Given the description of an element on the screen output the (x, y) to click on. 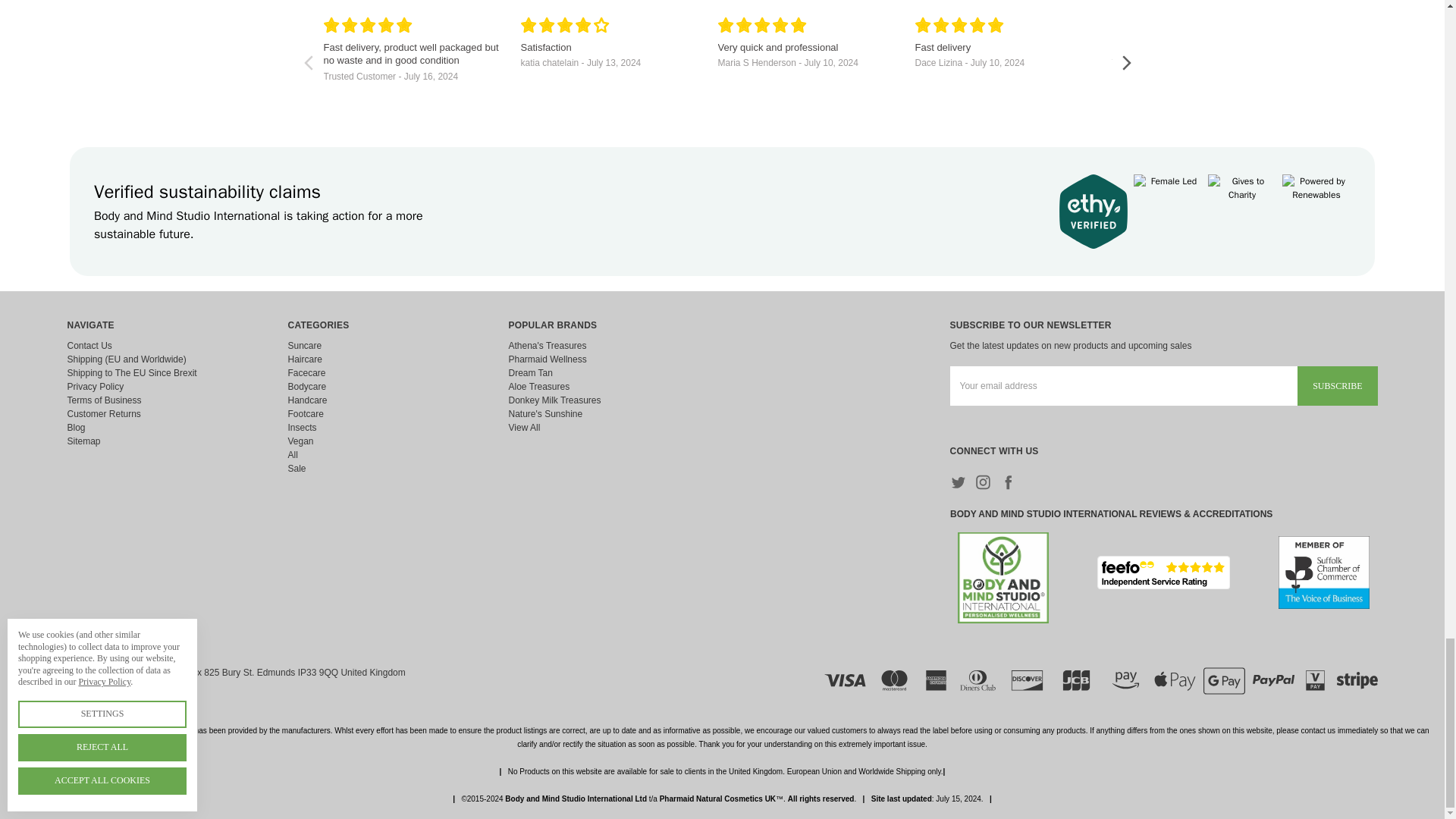
Subscribe (1337, 385)
See what our customers say about us (1163, 572)
